Given the description of an element on the screen output the (x, y) to click on. 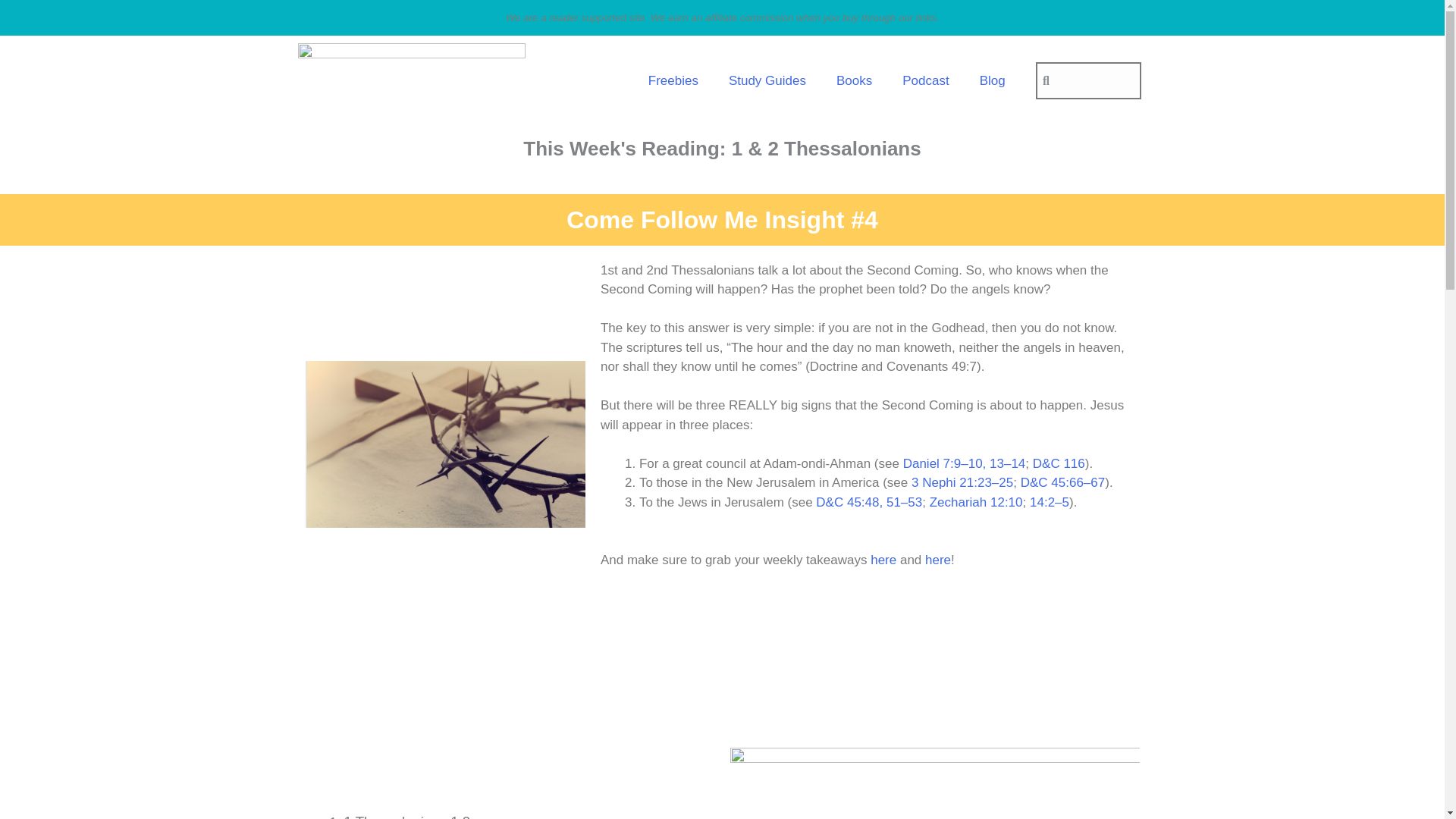
Books (853, 80)
Podcast (924, 80)
here (937, 559)
here (883, 559)
Freebies (673, 80)
Blog (991, 80)
Study Guides (767, 80)
Zechariah 12:10 (976, 501)
